Given the description of an element on the screen output the (x, y) to click on. 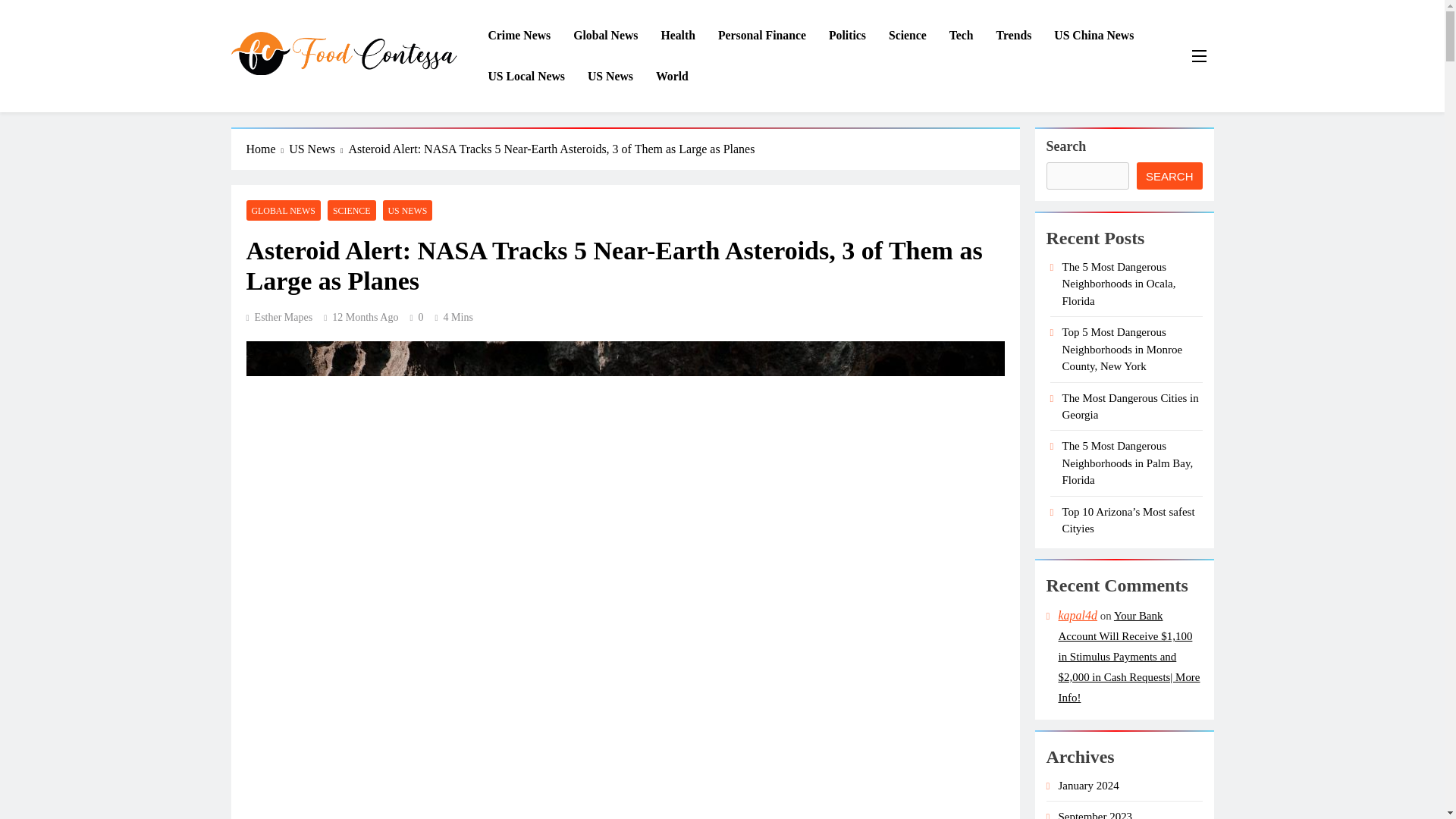
Personal Finance (761, 35)
US China News (1093, 35)
Politics (846, 35)
Crime News (519, 35)
Health (677, 35)
US Local News (526, 76)
World (672, 76)
Trends (1014, 35)
Global News (605, 35)
US News (610, 76)
